Given the description of an element on the screen output the (x, y) to click on. 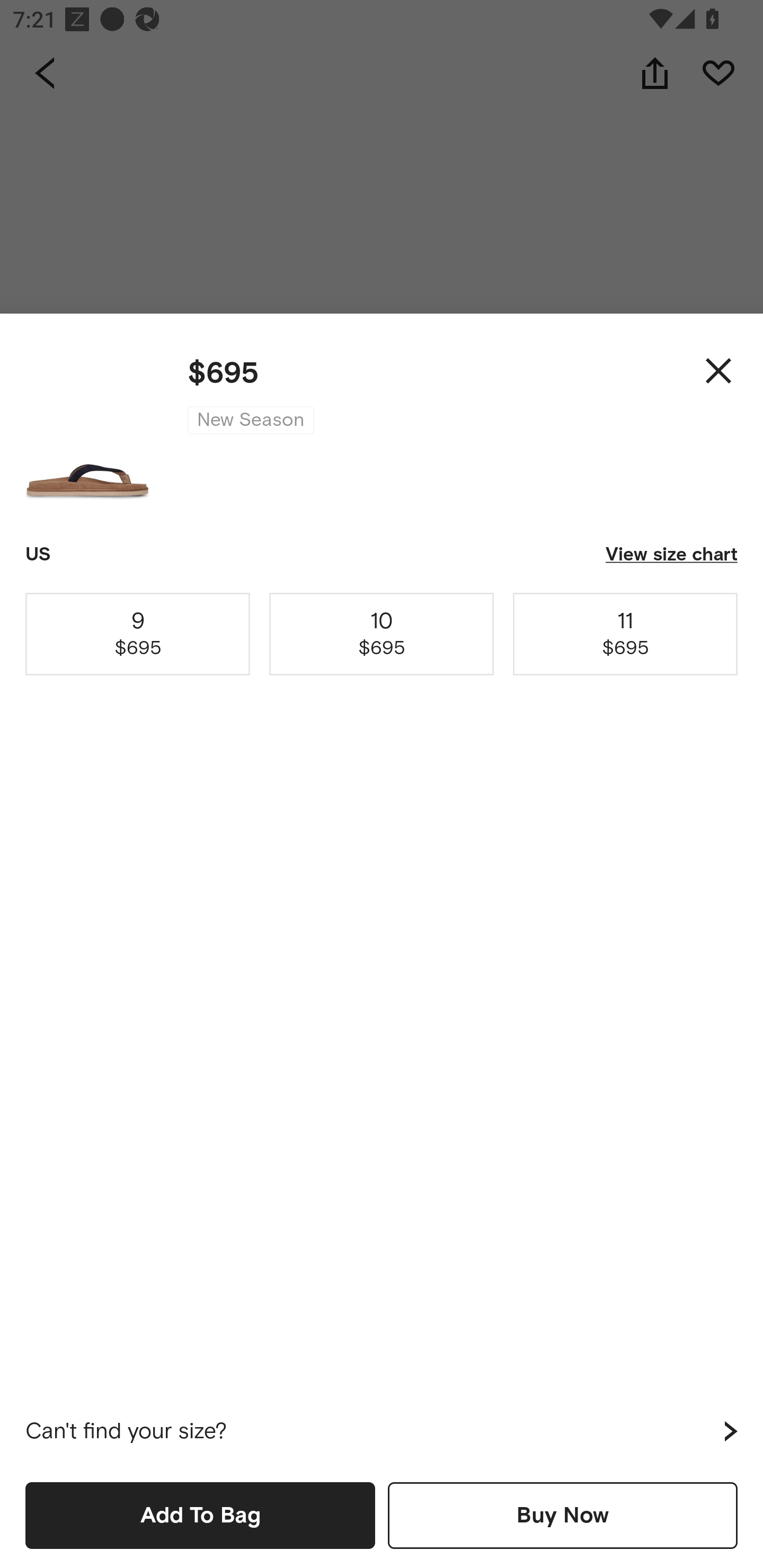
9 $695 (137, 633)
10 $695 (381, 633)
11 $695 (624, 633)
Can't find your size? (381, 1431)
Add To Bag (200, 1515)
Buy Now (562, 1515)
